Given the description of an element on the screen output the (x, y) to click on. 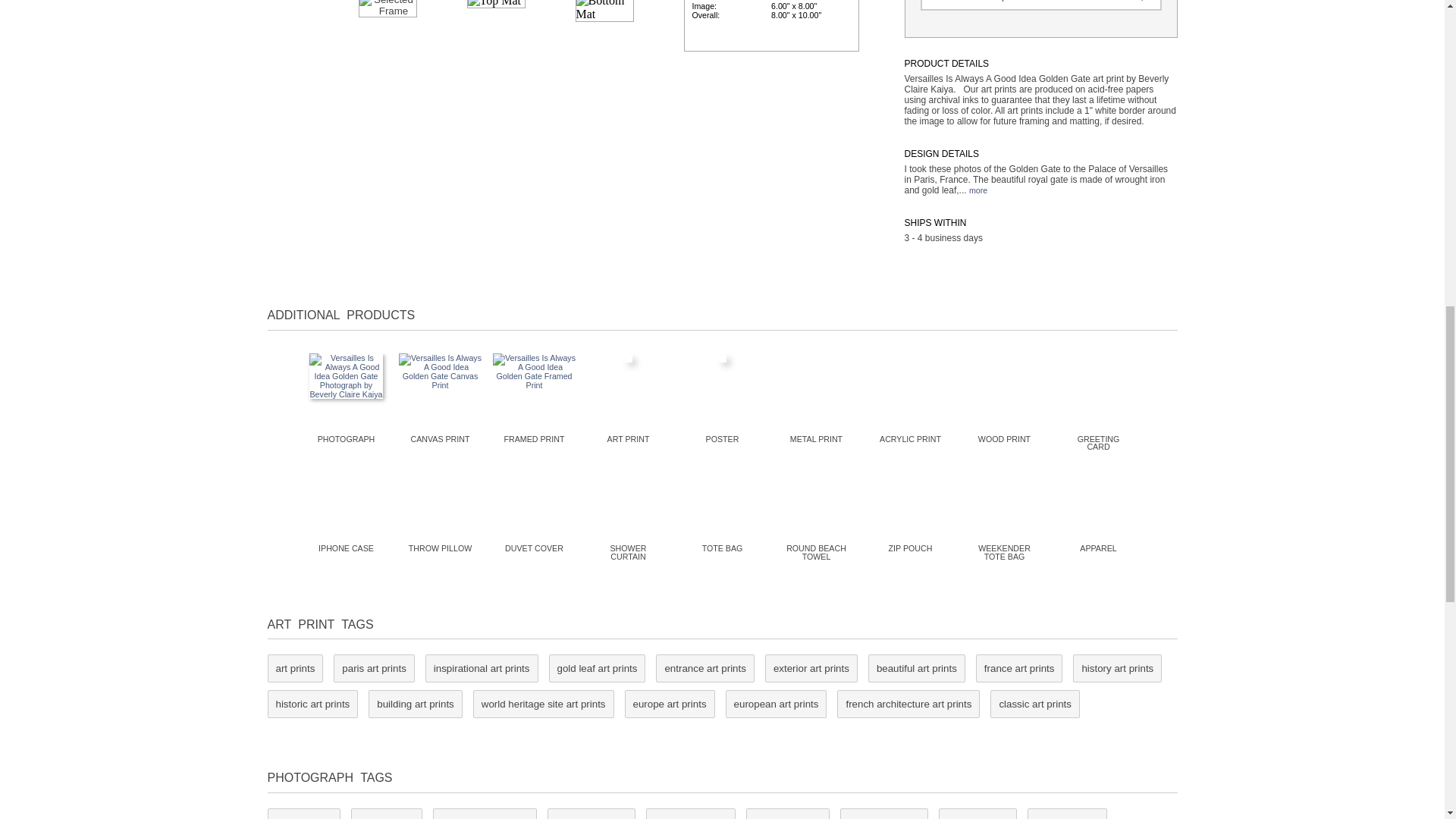
Bottom Mat (604, 11)
Selected Frame (387, 8)
Top Mat (496, 4)
